Given the description of an element on the screen output the (x, y) to click on. 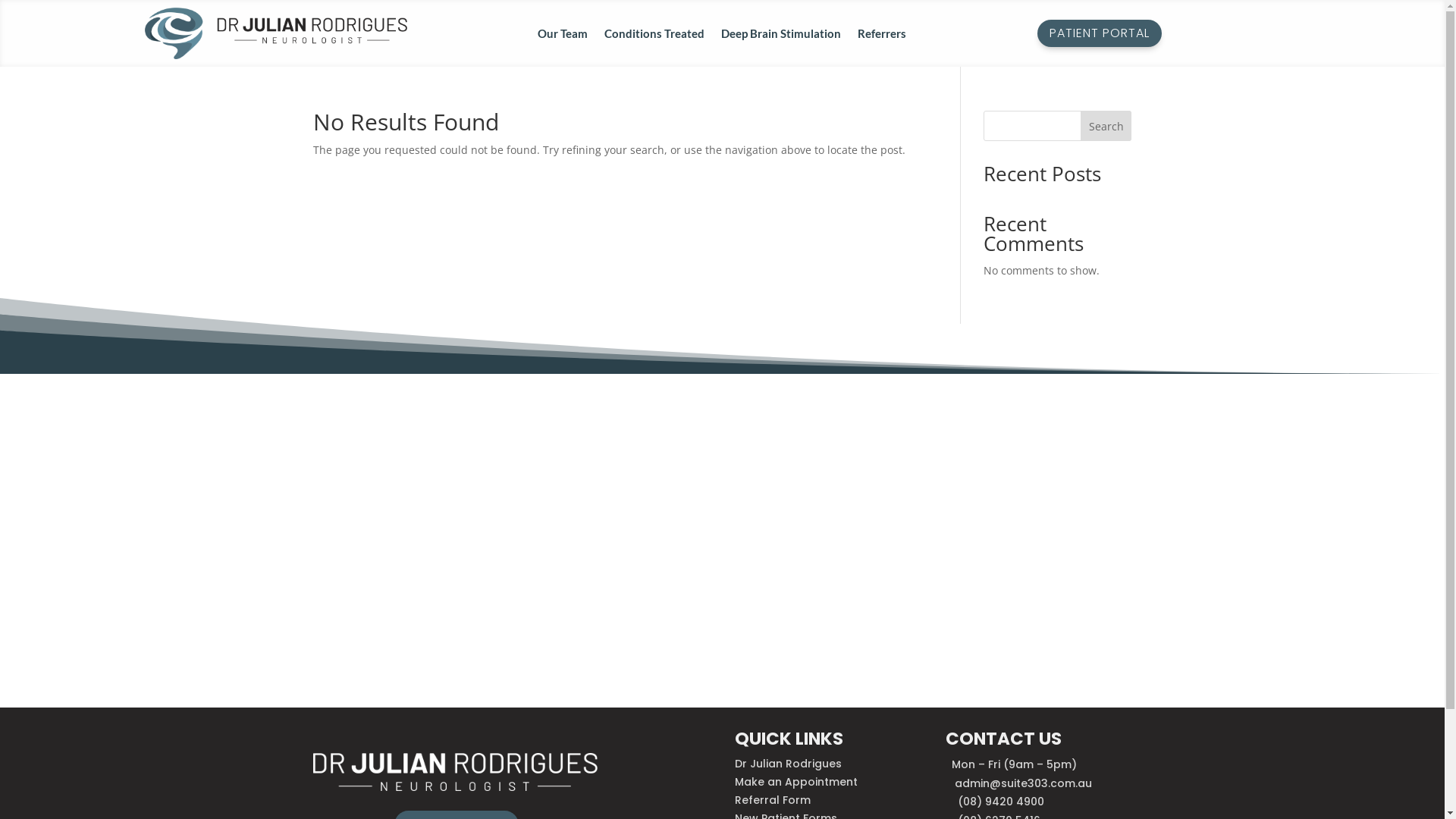
Deep Brain Stimulation Element type: text (780, 36)
Julian Rodrigues Horizontal-white-WEB-removed-Image Element type: hover (454, 771)
Referral Form Element type: text (772, 799)
Julian Rodrigues Horizontal-WEB Element type: hover (275, 33)
Referrers Element type: text (881, 36)
admin@suite303.com.au Element type: text (1023, 782)
Search Element type: text (1106, 125)
Dr Julian Rodrigues Element type: text (787, 763)
PATIENT PORTAL Element type: text (1099, 33)
(08) 9420 4900 Element type: text (1000, 801)
Make an Appointment Element type: text (795, 781)
Conditions Treated Element type: text (654, 36)
Our Team Element type: text (562, 36)
